Given the description of an element on the screen output the (x, y) to click on. 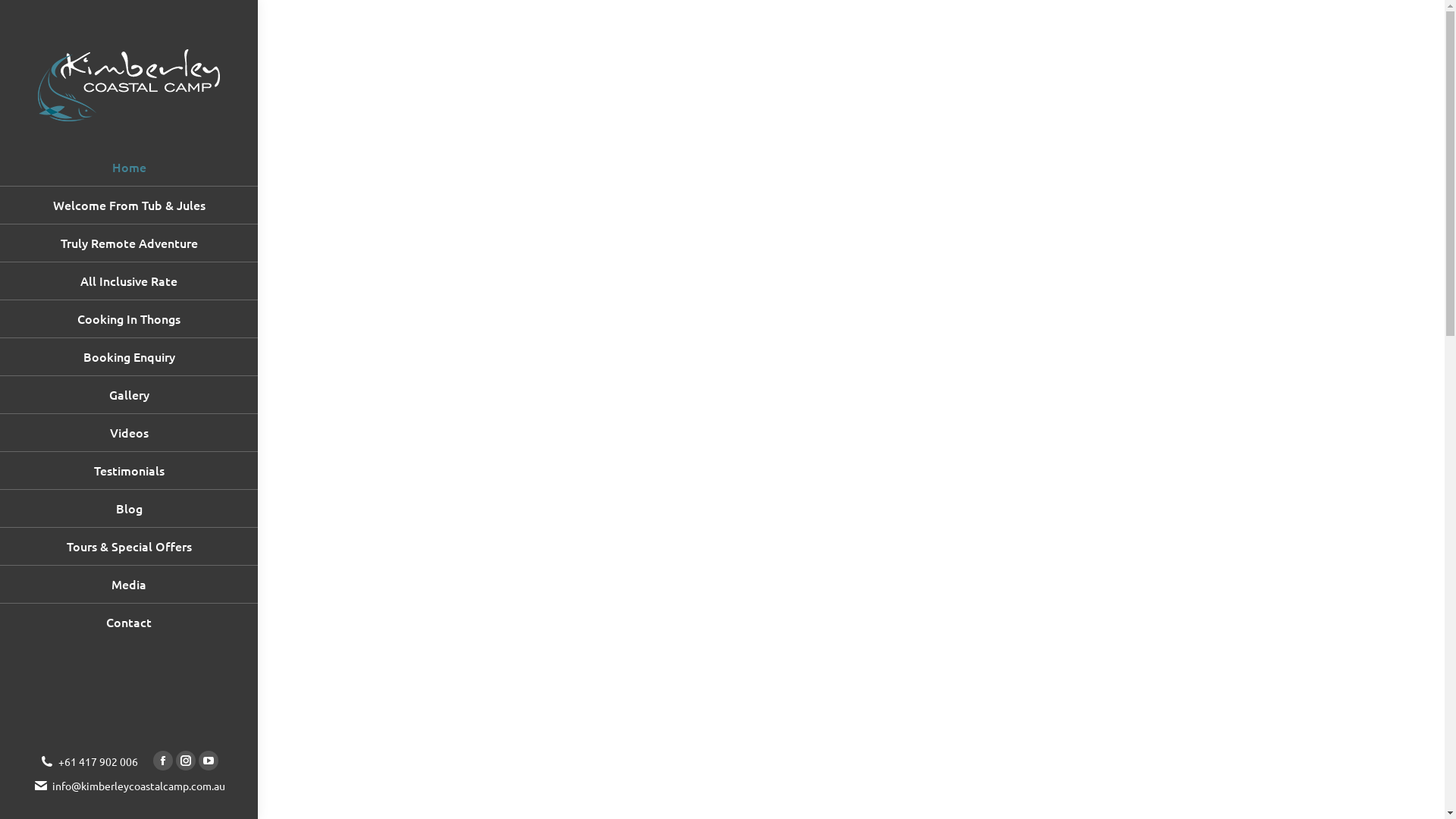
Videos Element type: text (128, 432)
All Inclusive Rate Element type: text (128, 280)
Booking Enquiry Element type: text (129, 356)
Instagram page opens in new window Element type: text (185, 760)
Truly Remote Adventure Element type: text (128, 242)
YouTube page opens in new window Element type: text (208, 760)
Cooking In Thongs Element type: text (128, 318)
Facebook page opens in new window Element type: text (162, 760)
Gallery Element type: text (129, 394)
Contact Element type: text (128, 621)
Blog Element type: text (128, 507)
Tours & Special Offers Element type: text (128, 545)
Home Element type: text (129, 166)
Testimonials Element type: text (129, 470)
Media Element type: text (128, 583)
Welcome From Tub & Jules Element type: text (129, 204)
